Given the description of an element on the screen output the (x, y) to click on. 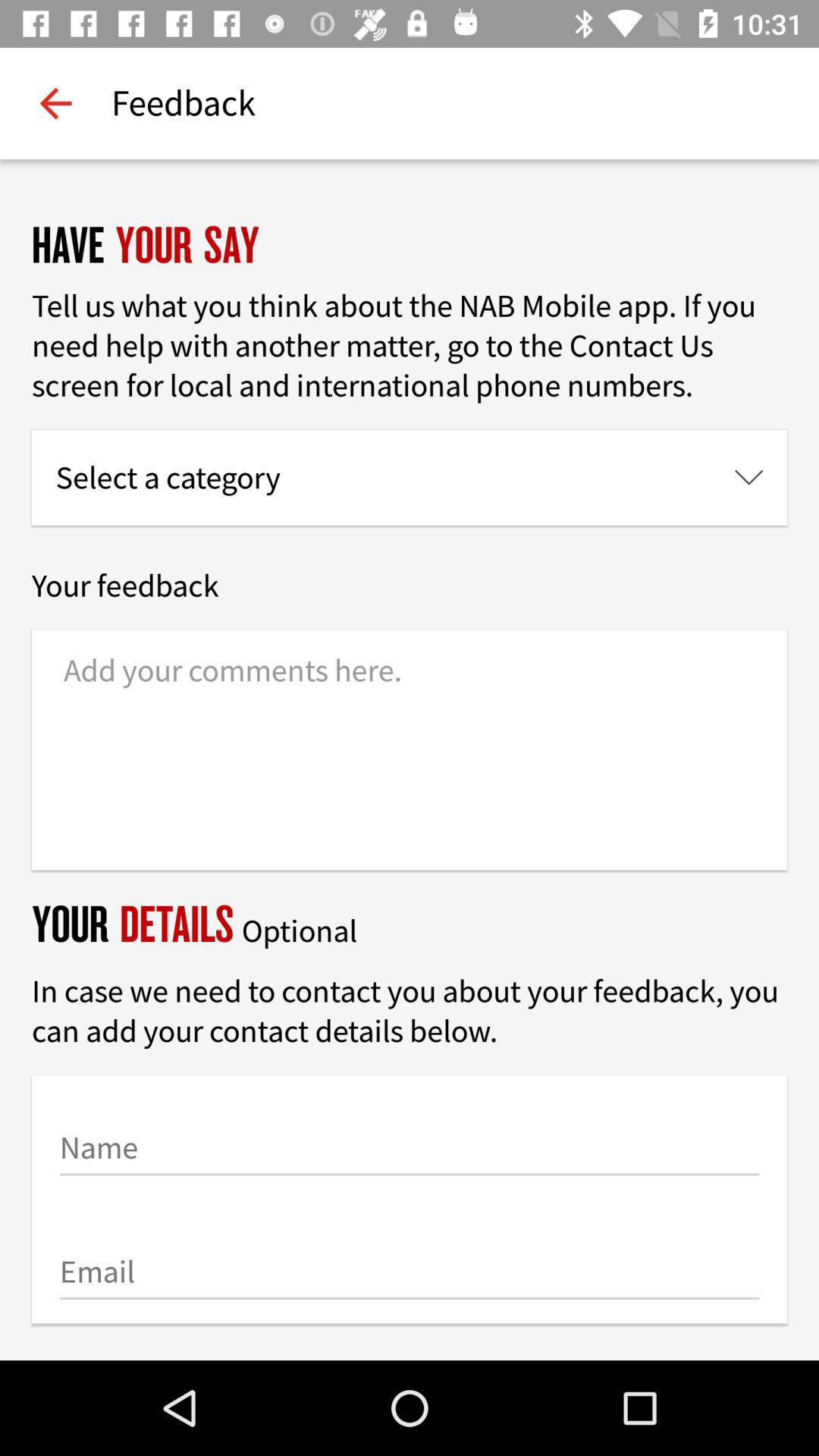
add comments (409, 750)
